Given the description of an element on the screen output the (x, y) to click on. 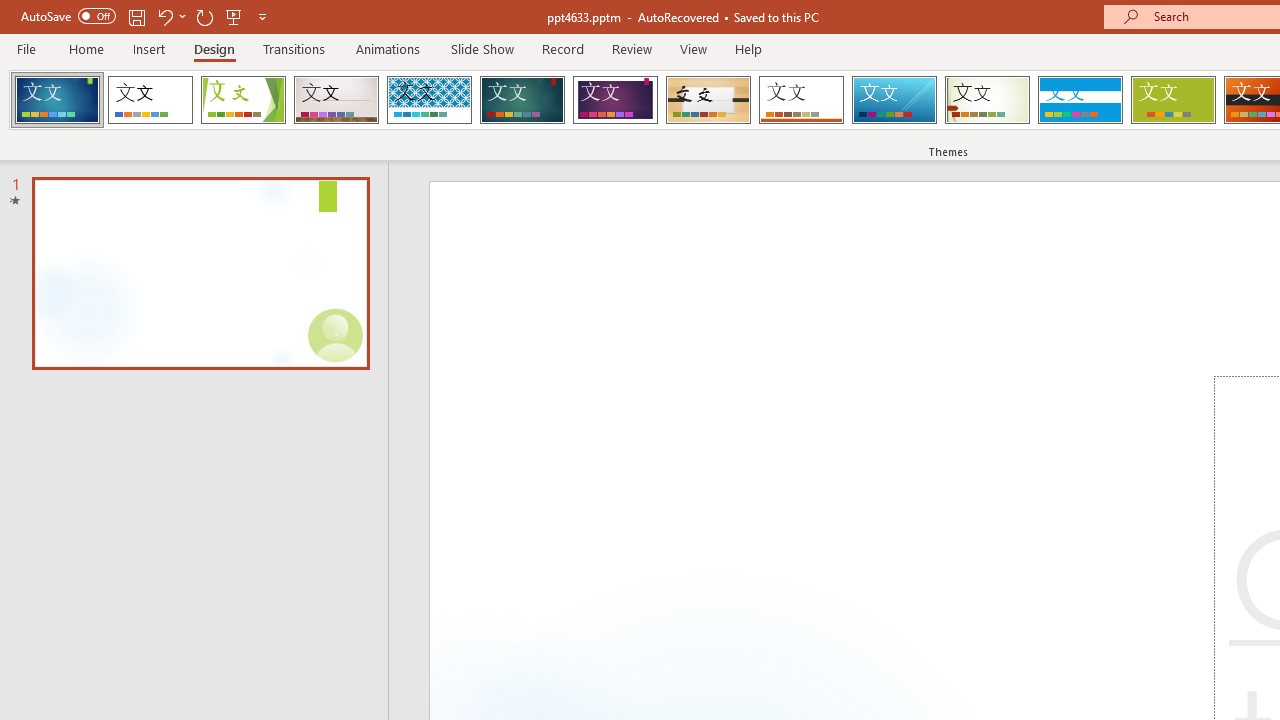
Integral (429, 100)
